Given the description of an element on the screen output the (x, y) to click on. 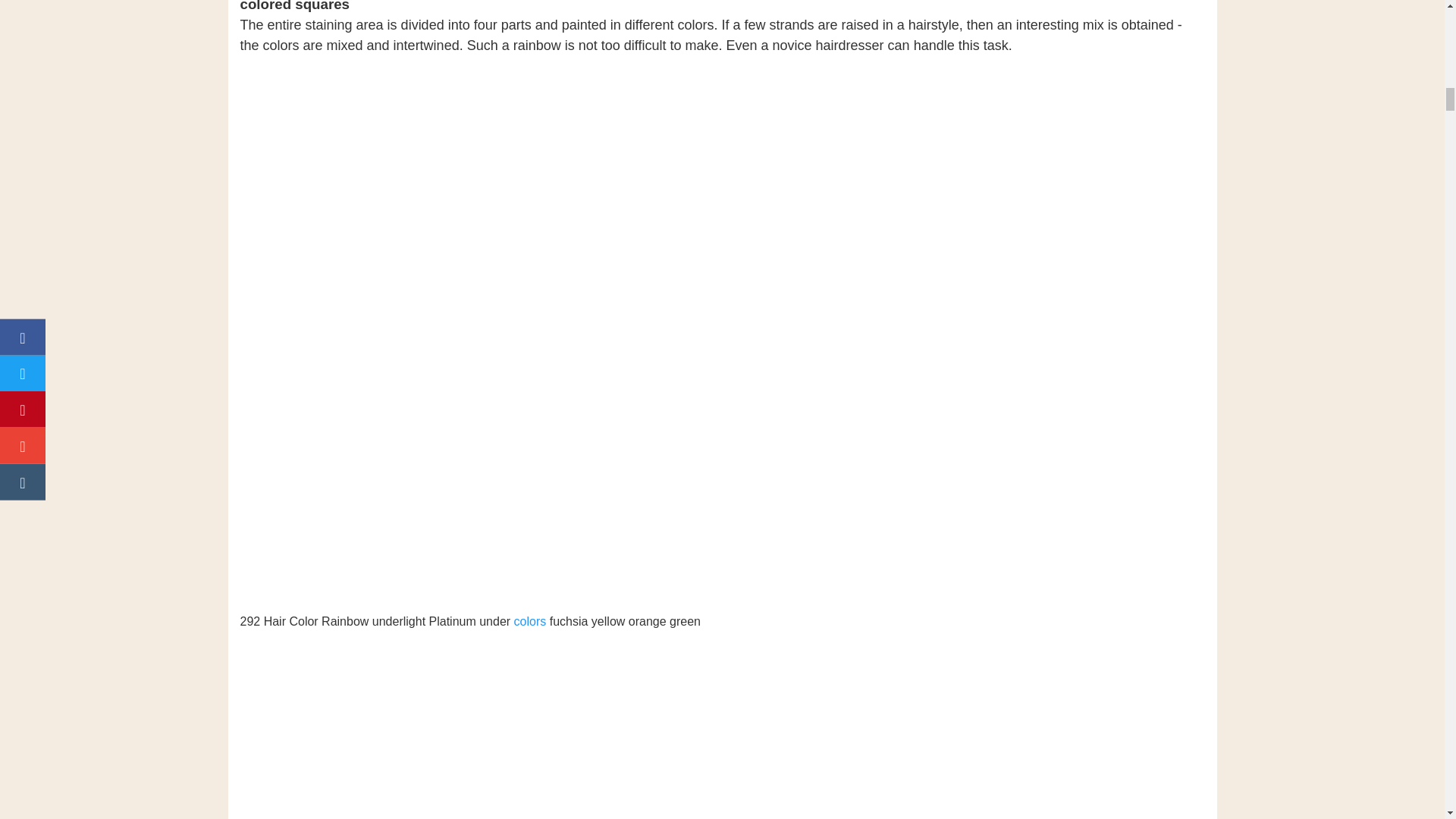
colors (530, 621)
colors (530, 621)
